Given the description of an element on the screen output the (x, y) to click on. 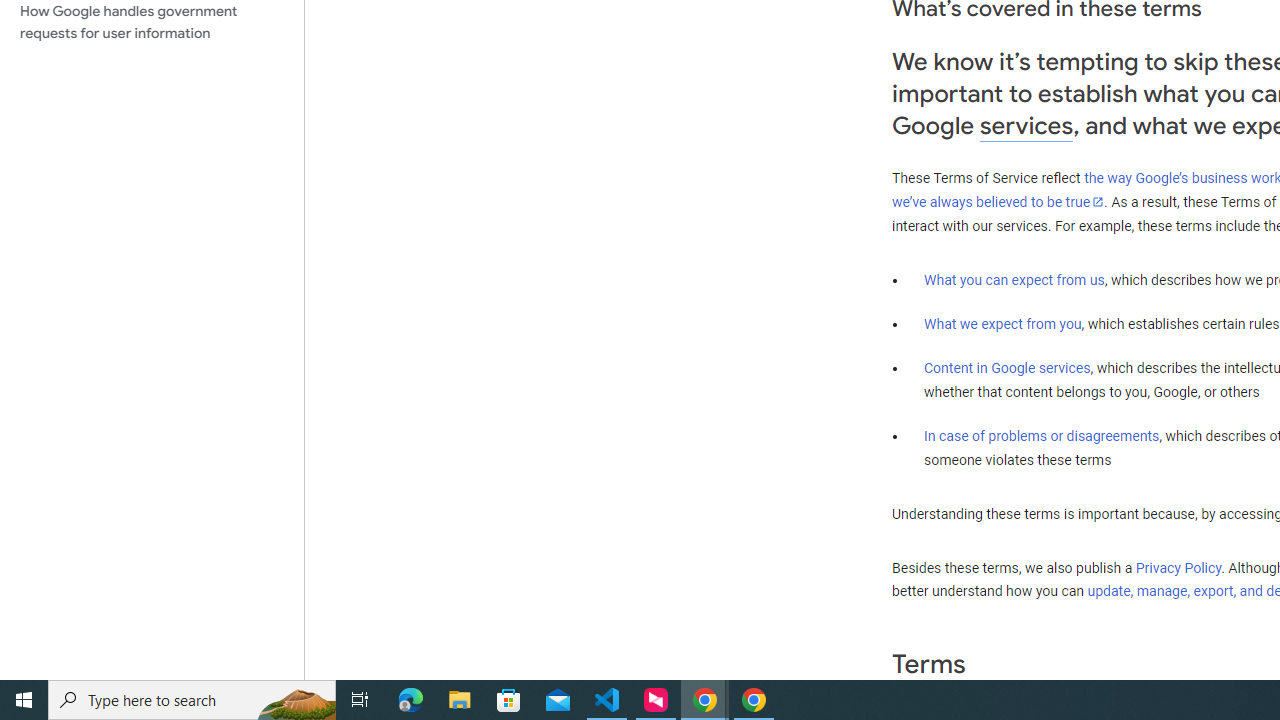
services (1026, 125)
Content in Google services (1007, 368)
What you can expect from us (1014, 279)
What we expect from you (1002, 323)
In case of problems or disagreements (1041, 435)
